Given the description of an element on the screen output the (x, y) to click on. 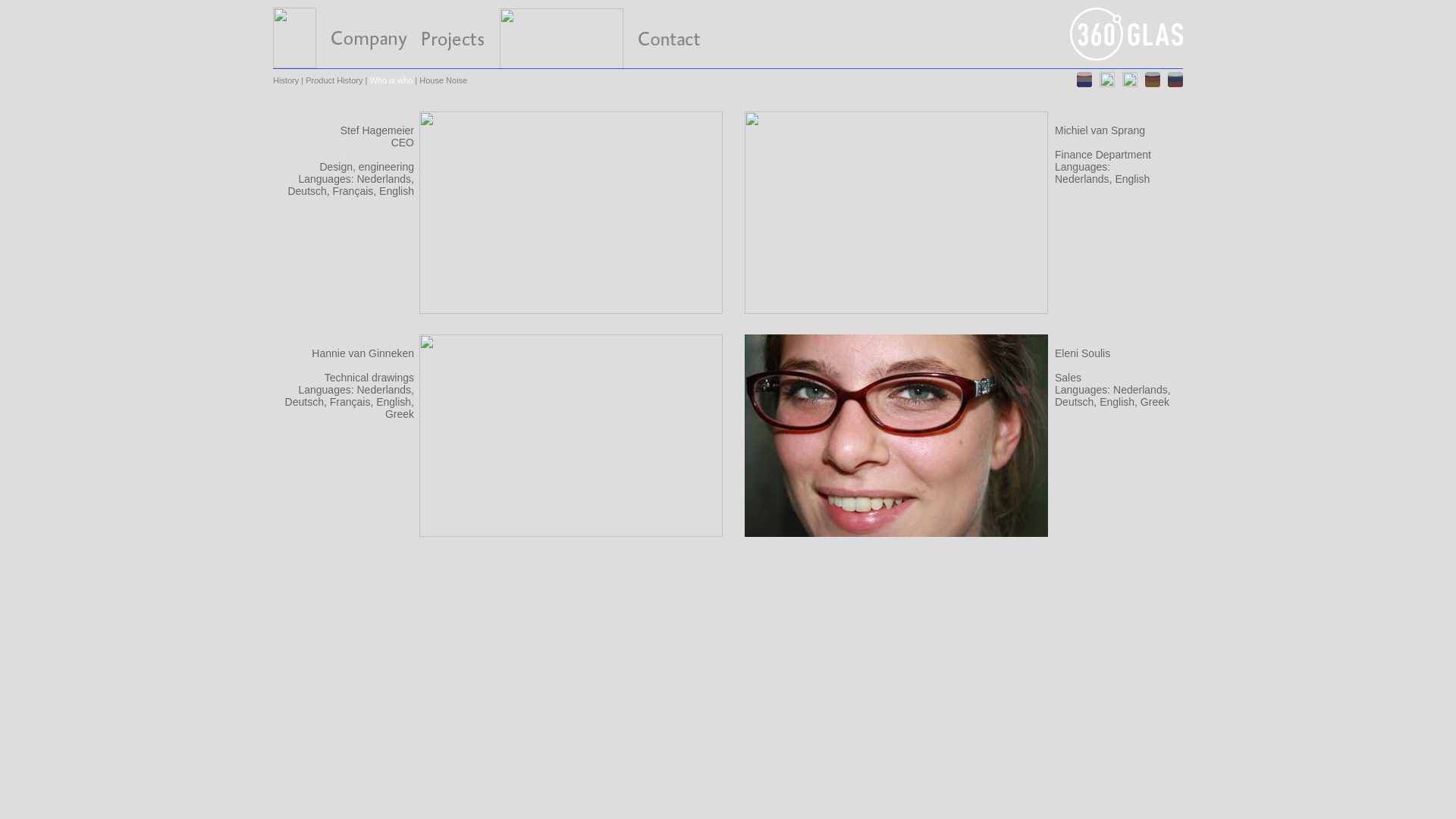
House Noise Element type: text (443, 79)
Product History Element type: text (333, 79)
History Element type: text (285, 79)
